Given the description of an element on the screen output the (x, y) to click on. 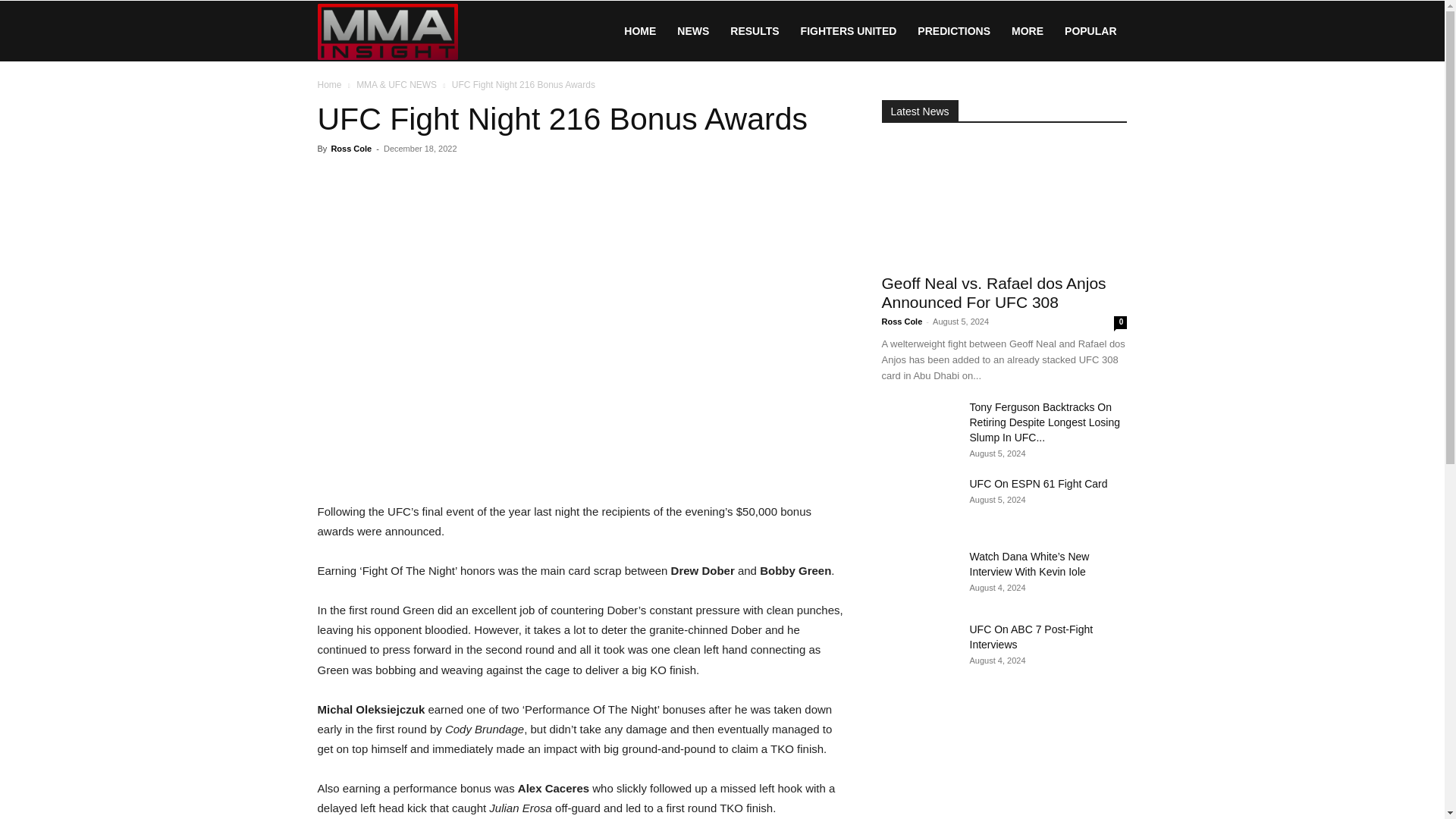
UFC On ESPN 61 Fight Card (1037, 483)
UFC On ESPN 61 Fight Card (918, 502)
RESULTS (754, 30)
MMA Insight (387, 30)
POPULAR (1090, 30)
Geoff Neal vs. Rafael dos Anjos Announced For UFC 308 (1003, 202)
Geoff Neal vs. Rafael dos Anjos Announced For UFC 308 (992, 292)
FIGHTERS UNITED (848, 30)
PREDICTIONS (954, 30)
